Given the description of an element on the screen output the (x, y) to click on. 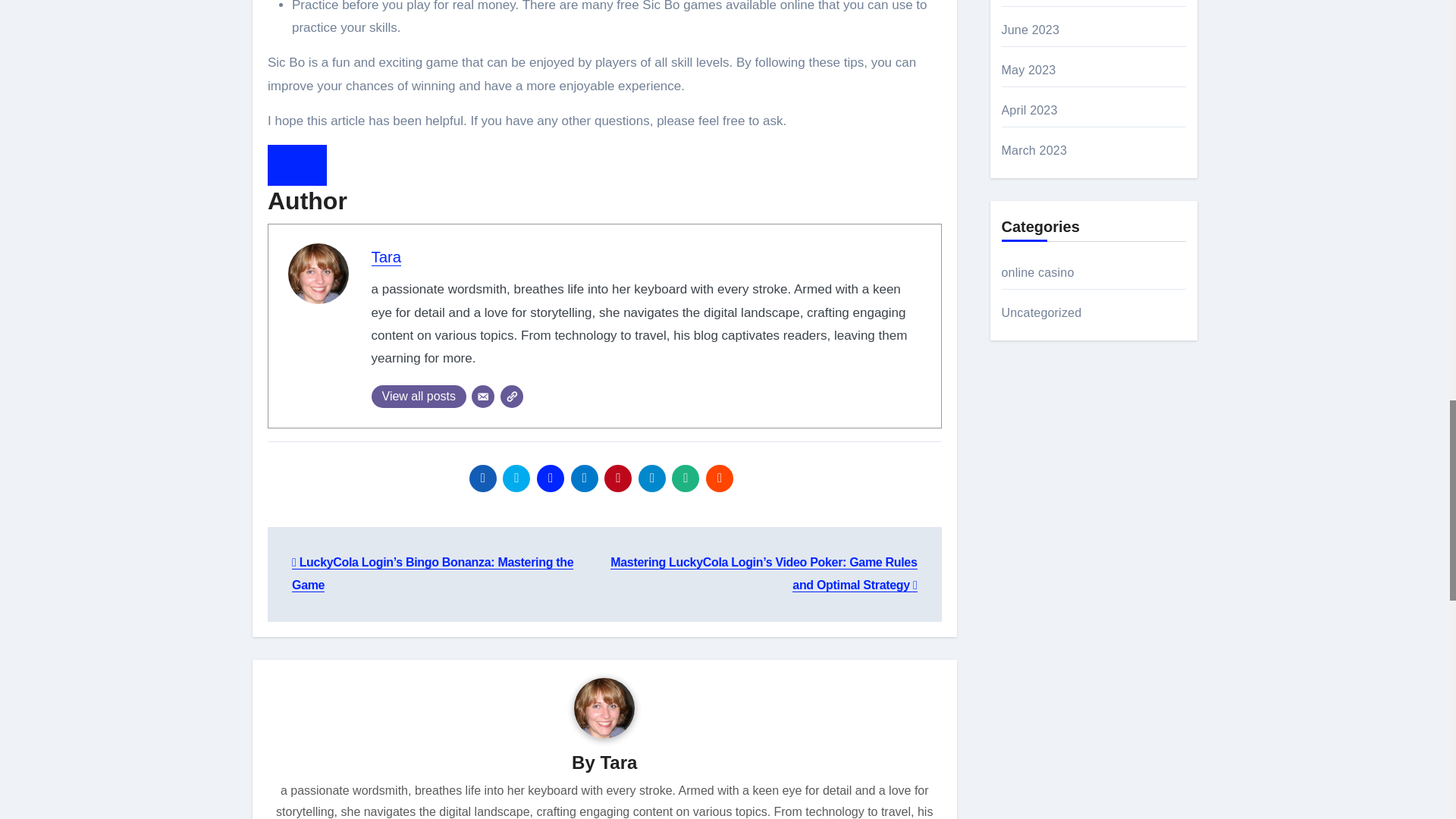
View all posts (419, 395)
Tara (386, 256)
Tara (386, 256)
View all posts (419, 395)
